Given the description of an element on the screen output the (x, y) to click on. 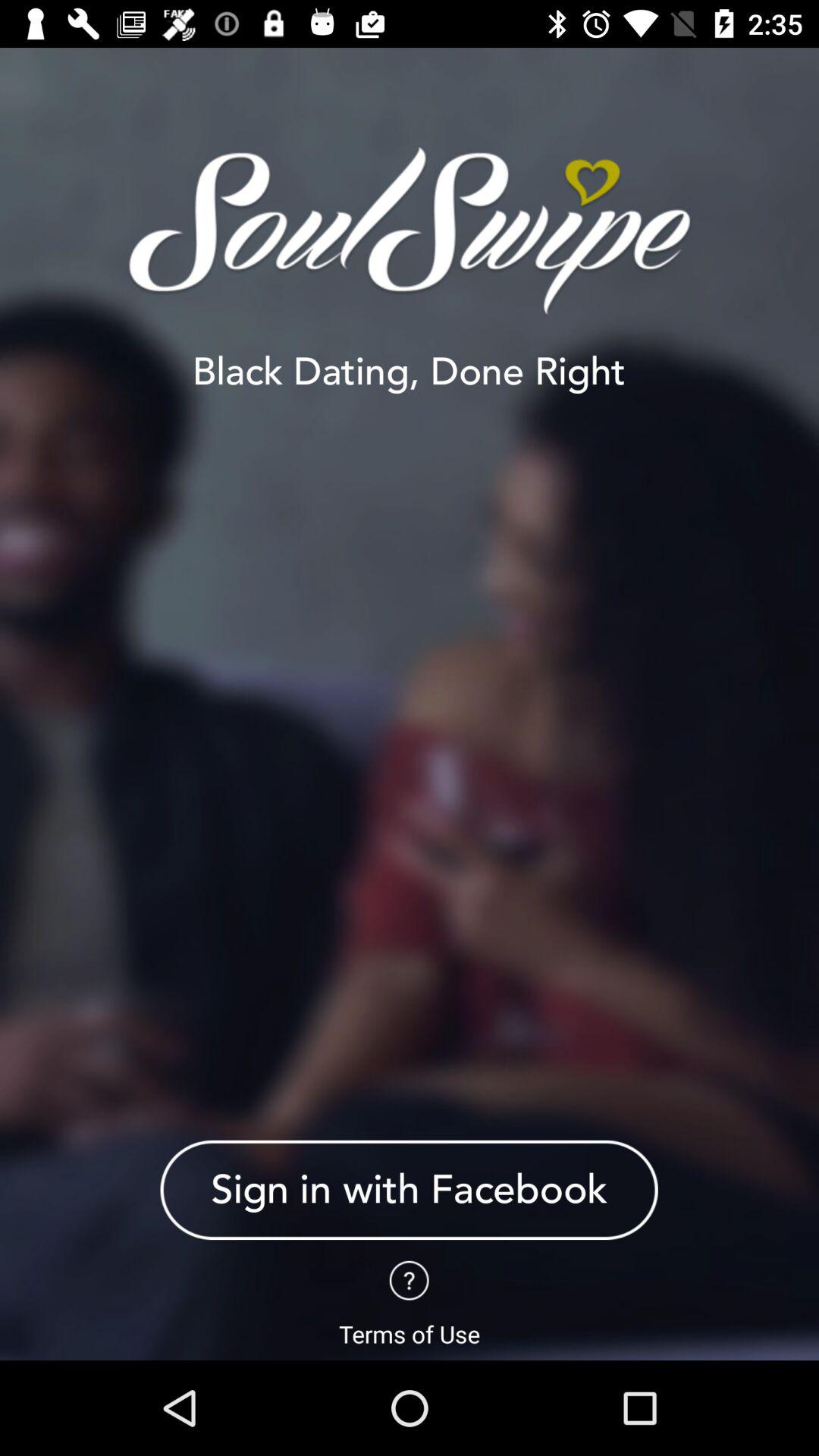
terms of use page (409, 1280)
